Given the description of an element on the screen output the (x, y) to click on. 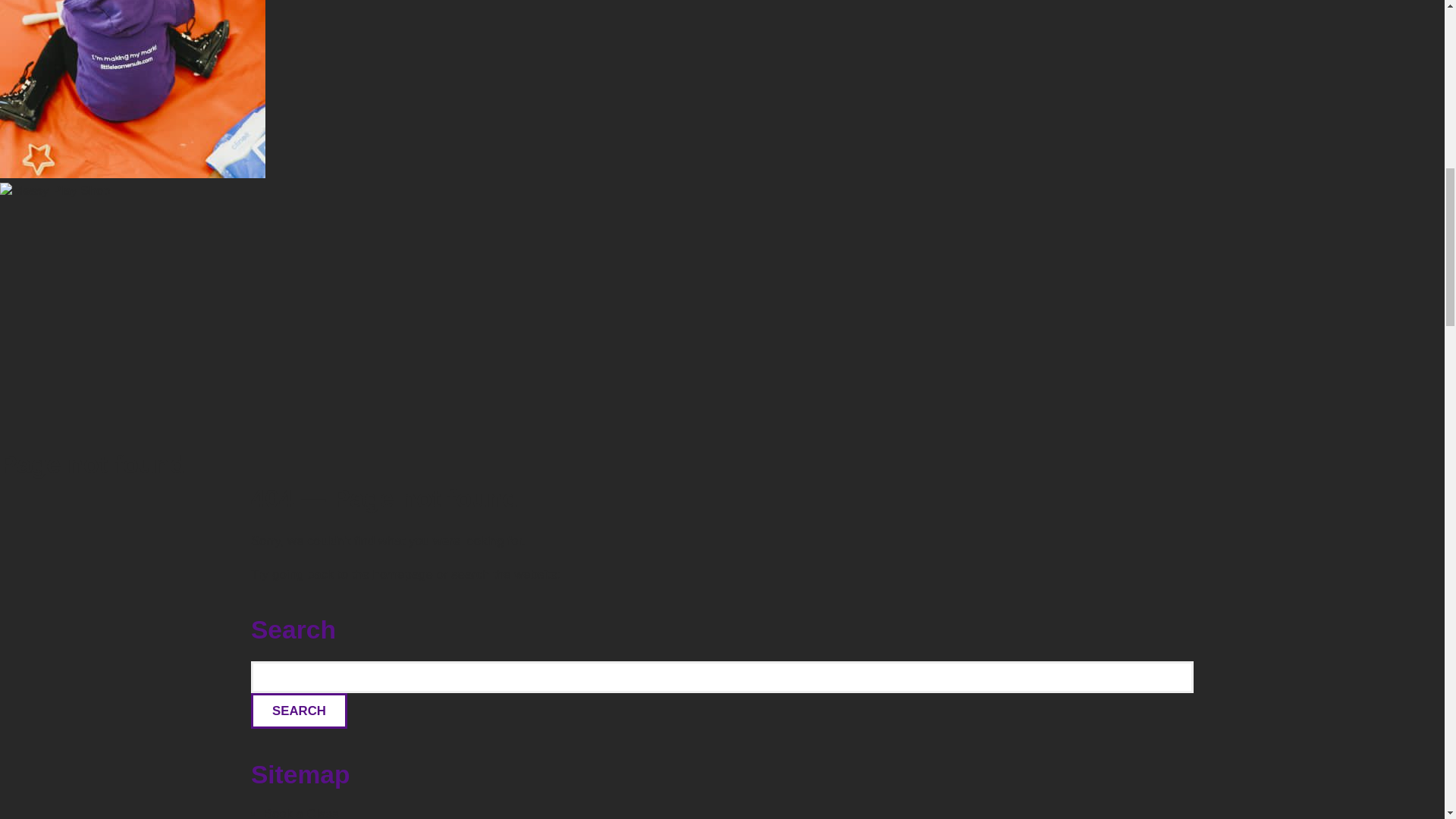
Book a Class (301, 812)
homepage (402, 574)
SEARCH (298, 710)
